Given the description of an element on the screen output the (x, y) to click on. 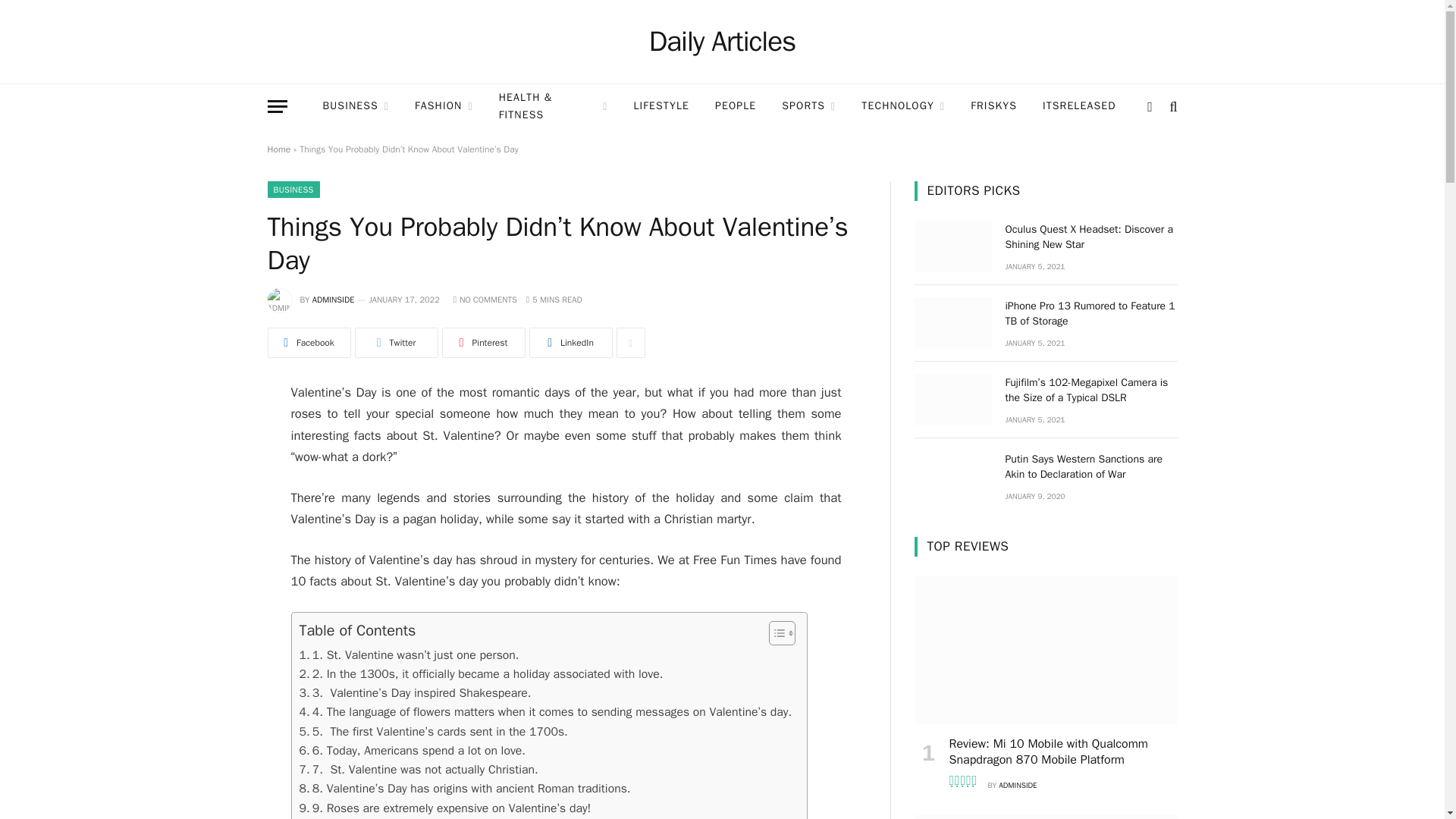
Posts by adminside (334, 299)
Share on Pinterest (482, 342)
Daily Articles (722, 41)
Switch to Dark Design - easier on eyes. (1149, 106)
Daily Articles (722, 41)
Share on Facebook (308, 342)
Share on LinkedIn (570, 342)
BUSINESS (354, 106)
